Given the description of an element on the screen output the (x, y) to click on. 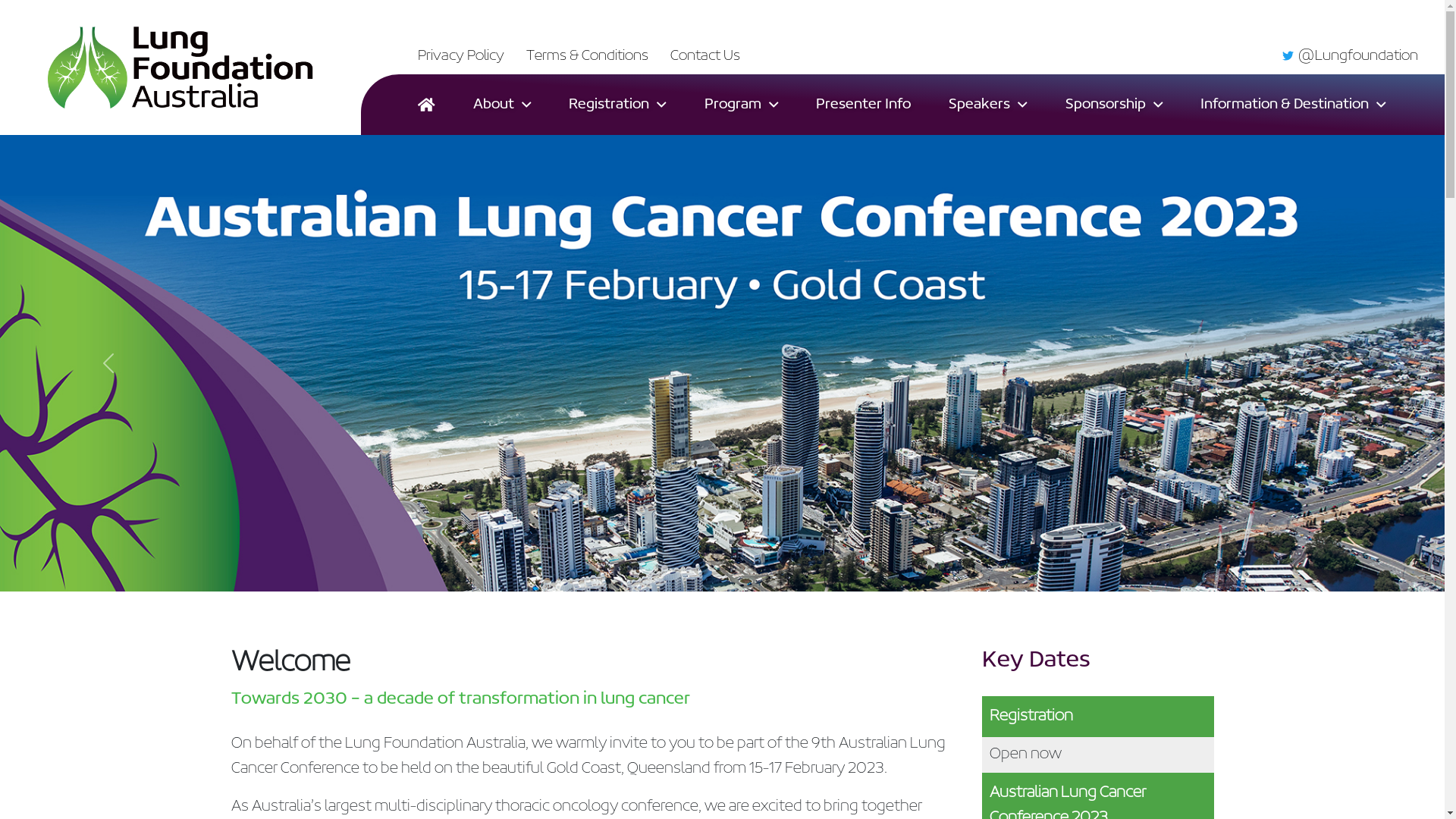
Contact Us Element type: text (705, 55)
Speakers Element type: text (987, 104)
Information & Destination Element type: text (1293, 104)
Registration Element type: text (617, 104)
Terms & Conditions Element type: text (587, 55)
Privacy Policy Element type: text (460, 55)
Next Element type: text (1335, 362)
Program Element type: text (741, 104)
Sponsorship Element type: text (1114, 104)
Previous Element type: text (108, 362)
@Lungfoundation Element type: text (1350, 55)
About Element type: text (502, 104)
Presenter Info Element type: text (863, 104)
